Given the description of an element on the screen output the (x, y) to click on. 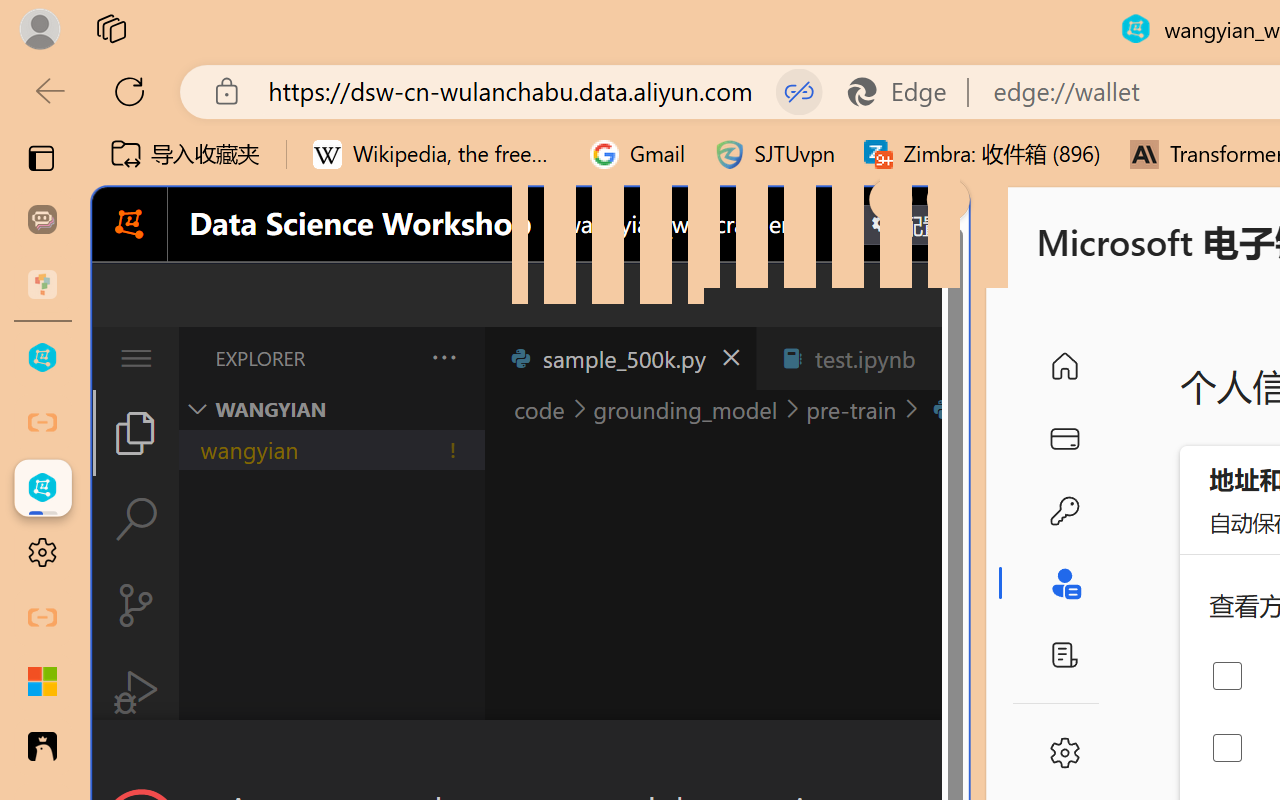
Explorer Section: wangyian (331, 409)
Microsoft security help and learning (42, 681)
Explorer (Ctrl+Shift+E) (135, 432)
wangyian_webcrawler - DSW (42, 487)
Class: menubar compact overflow-menu-only (135, 358)
test.ipynb (864, 358)
Source Control (Ctrl+Shift+G) (135, 604)
wangyian_dsw - DSW (42, 357)
